Given the description of an element on the screen output the (x, y) to click on. 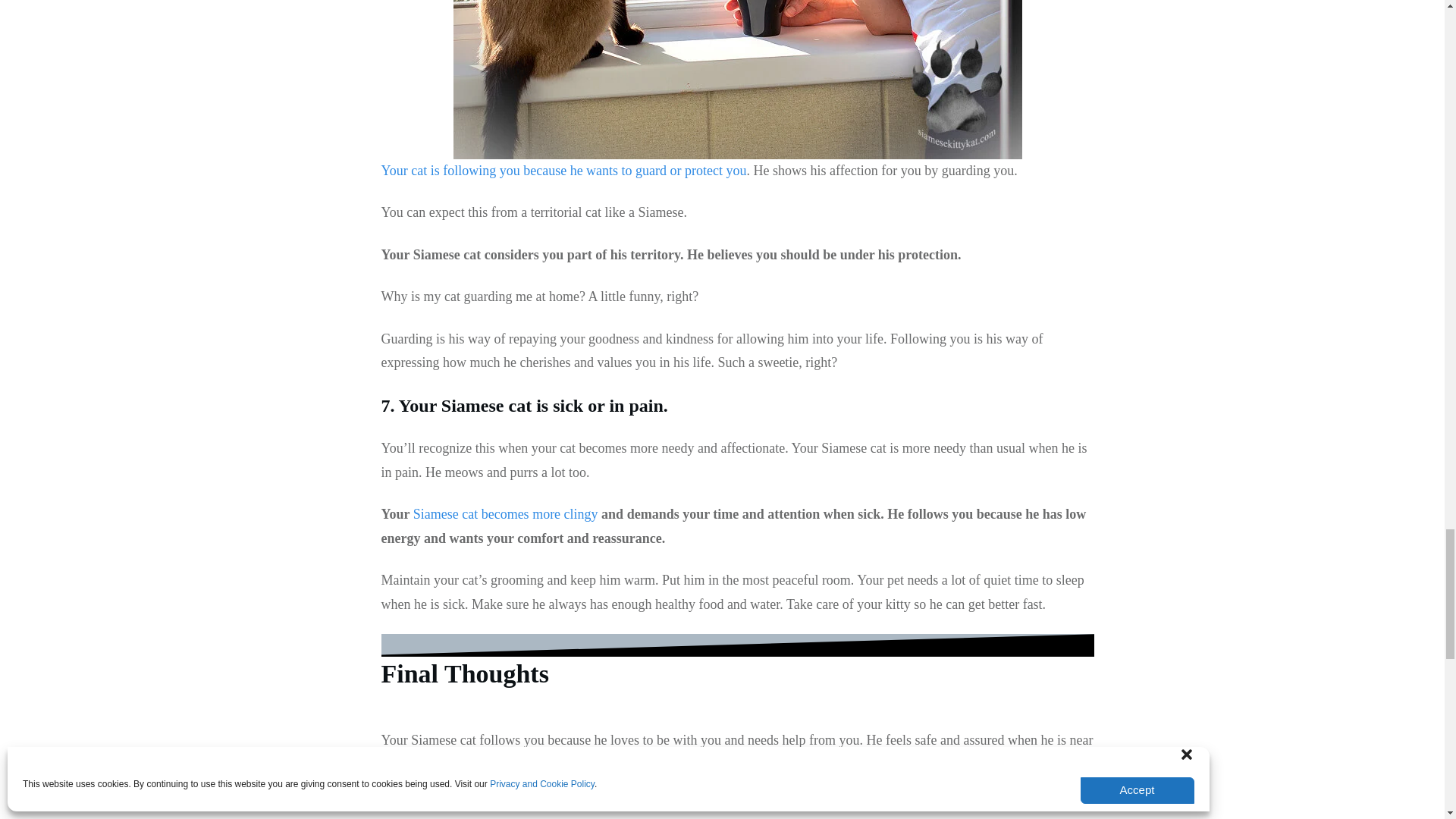
Siamese cat becomes more clingy (505, 513)
